Given the description of an element on the screen output the (x, y) to click on. 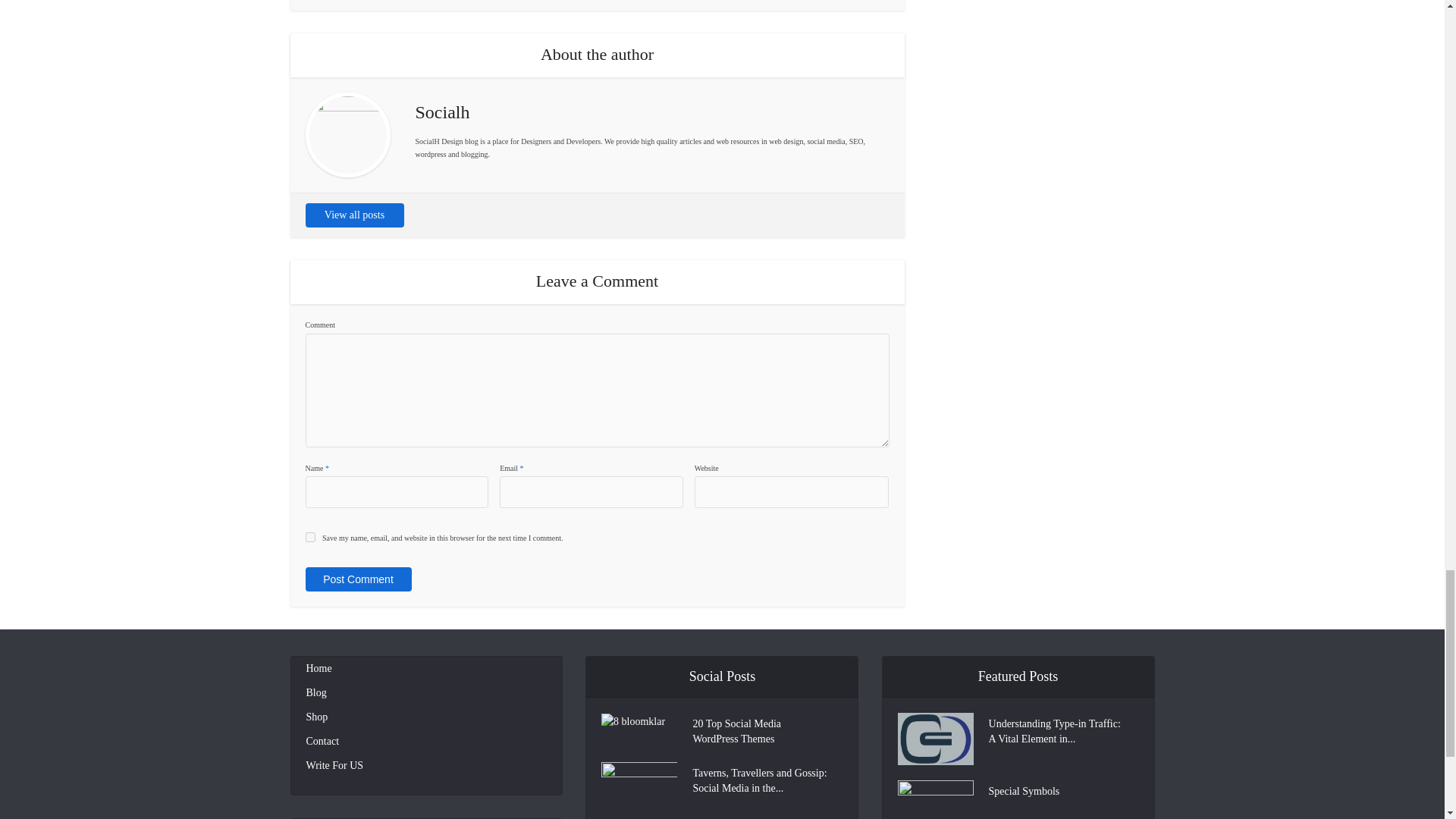
yes (309, 537)
Post Comment (357, 579)
